Given the description of an element on the screen output the (x, y) to click on. 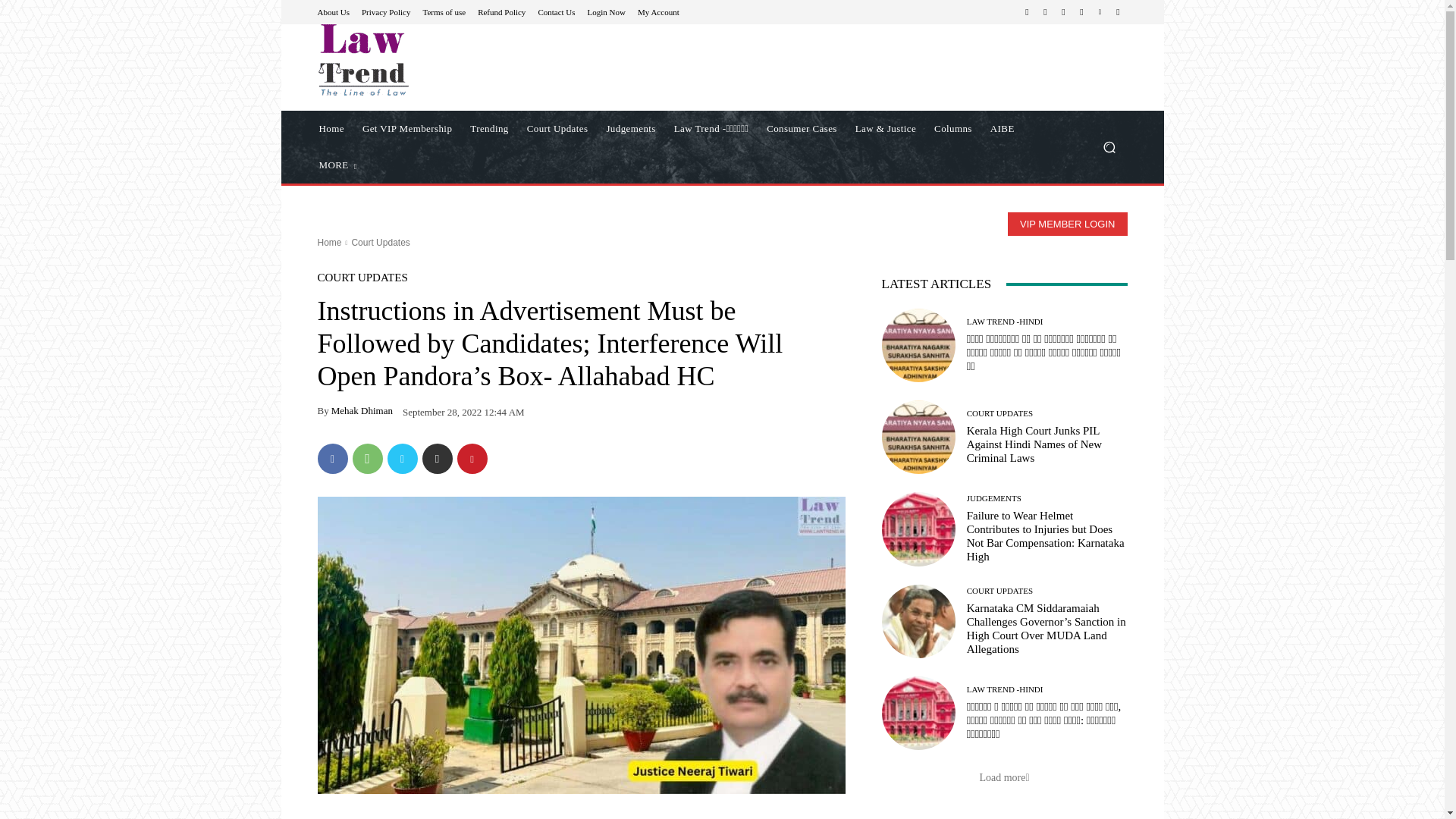
Telegram (1062, 12)
About Us (333, 11)
Terms of use (443, 11)
Youtube (1117, 12)
Law Trend- Legal News Website (425, 59)
VIP MEMBER LOGIN (1066, 223)
Law Trend- Legal News Website (362, 59)
View all posts in Court Updates (379, 242)
Twitter (1080, 12)
My Account (658, 11)
